Given the description of an element on the screen output the (x, y) to click on. 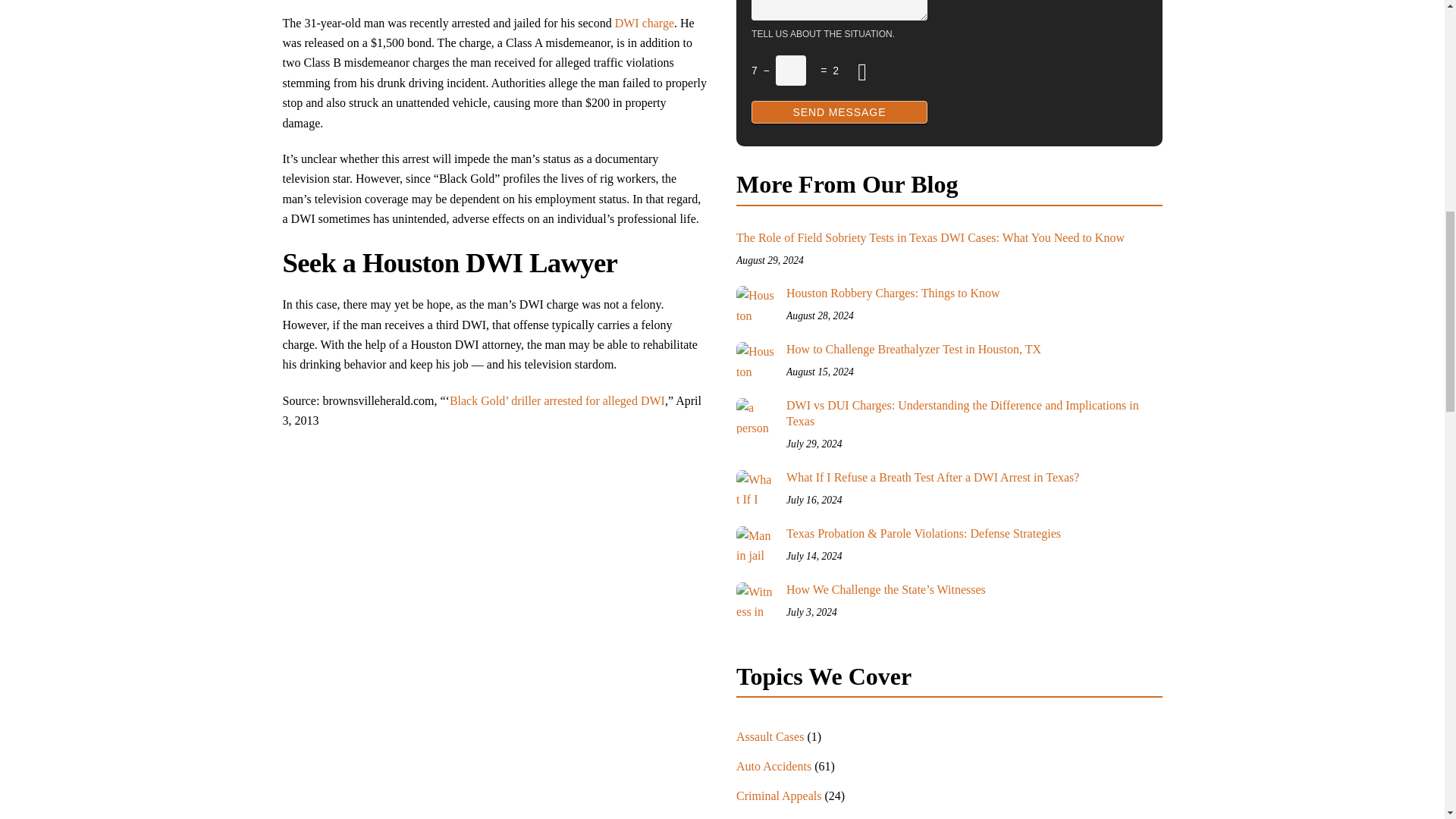
Witness in Courtroom (755, 600)
Man in jail contemplating freedom (755, 545)
What If I Refuse a Breath Test After a DWI Arrest in Texas? (755, 488)
Houston Criminal Defense Lawyer Tad Nelson (755, 361)
Houston Criminal Defense Lawyer Tad Nelson (755, 304)
Texas DWI Overview (644, 22)
